Given the description of an element on the screen output the (x, y) to click on. 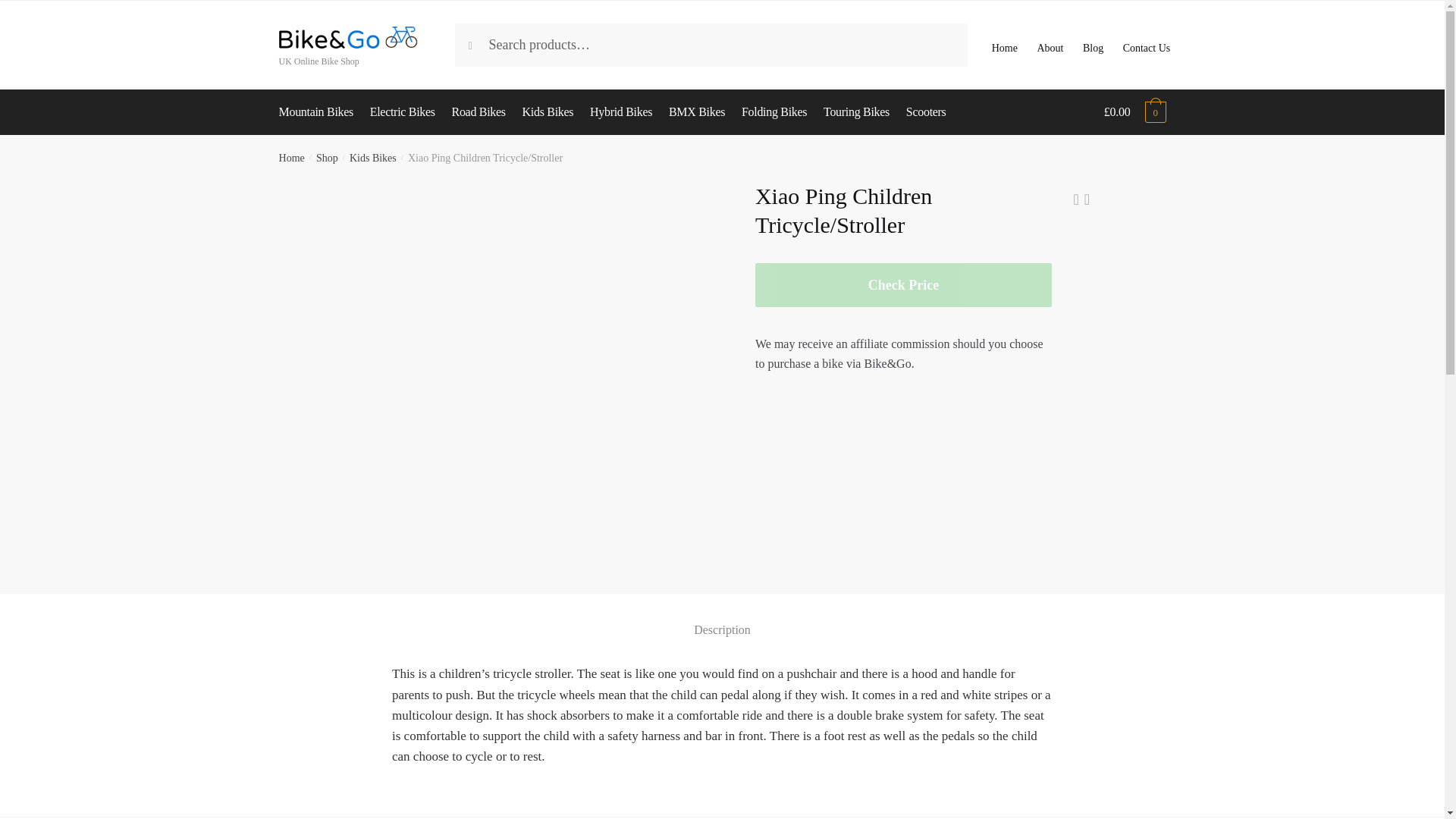
Blog (1093, 44)
Mountain Bikes (320, 112)
About (1050, 44)
Search (485, 38)
Touring Bikes (856, 112)
Electric Bikes (401, 112)
Home (291, 157)
View your shopping cart (1134, 112)
Scooters (925, 112)
Hybrid Bikes (621, 112)
